Given the description of an element on the screen output the (x, y) to click on. 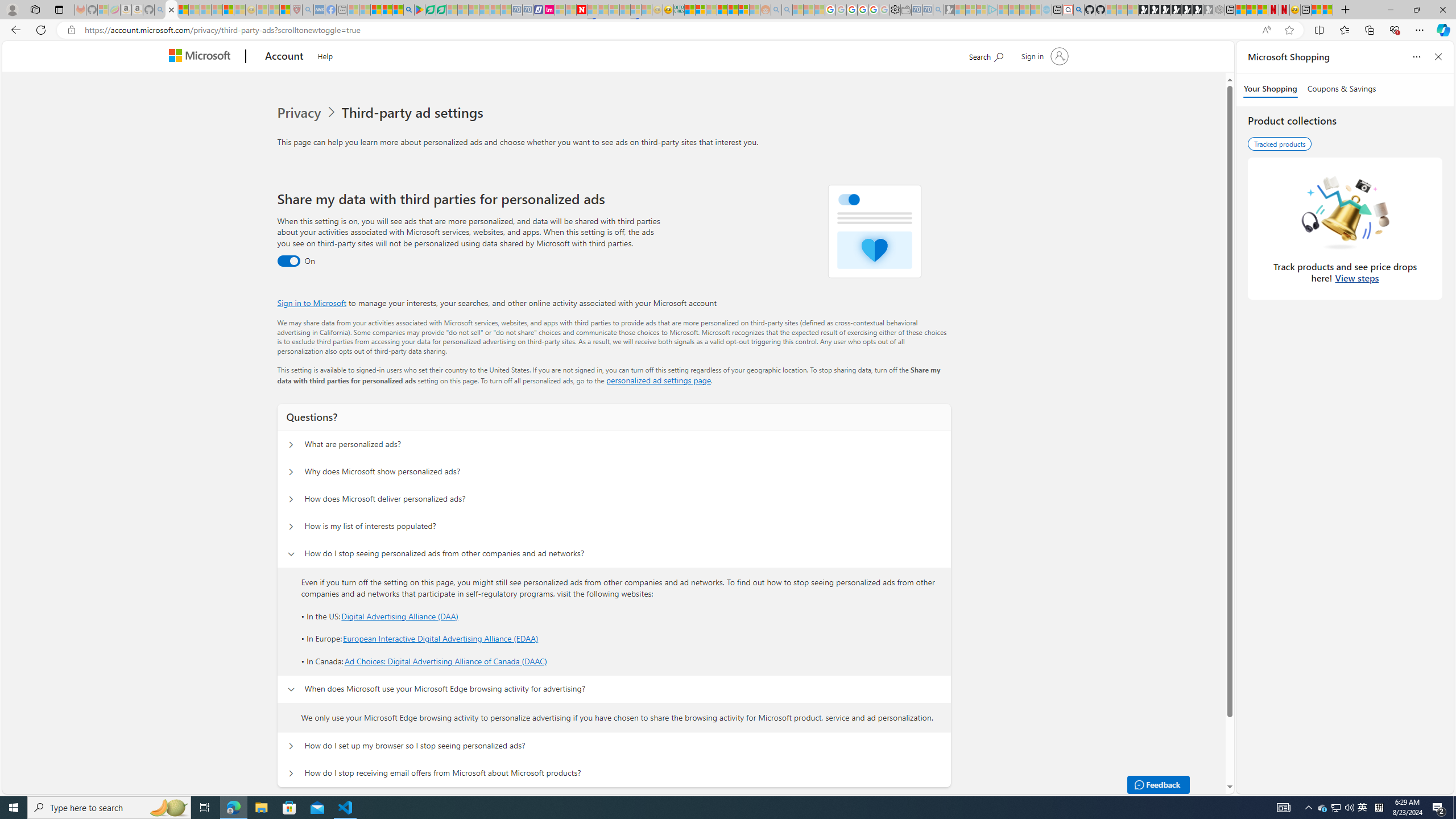
github - Search (1078, 9)
Sign in to your account (1043, 55)
Sign in to Microsoft (311, 302)
